Given the description of an element on the screen output the (x, y) to click on. 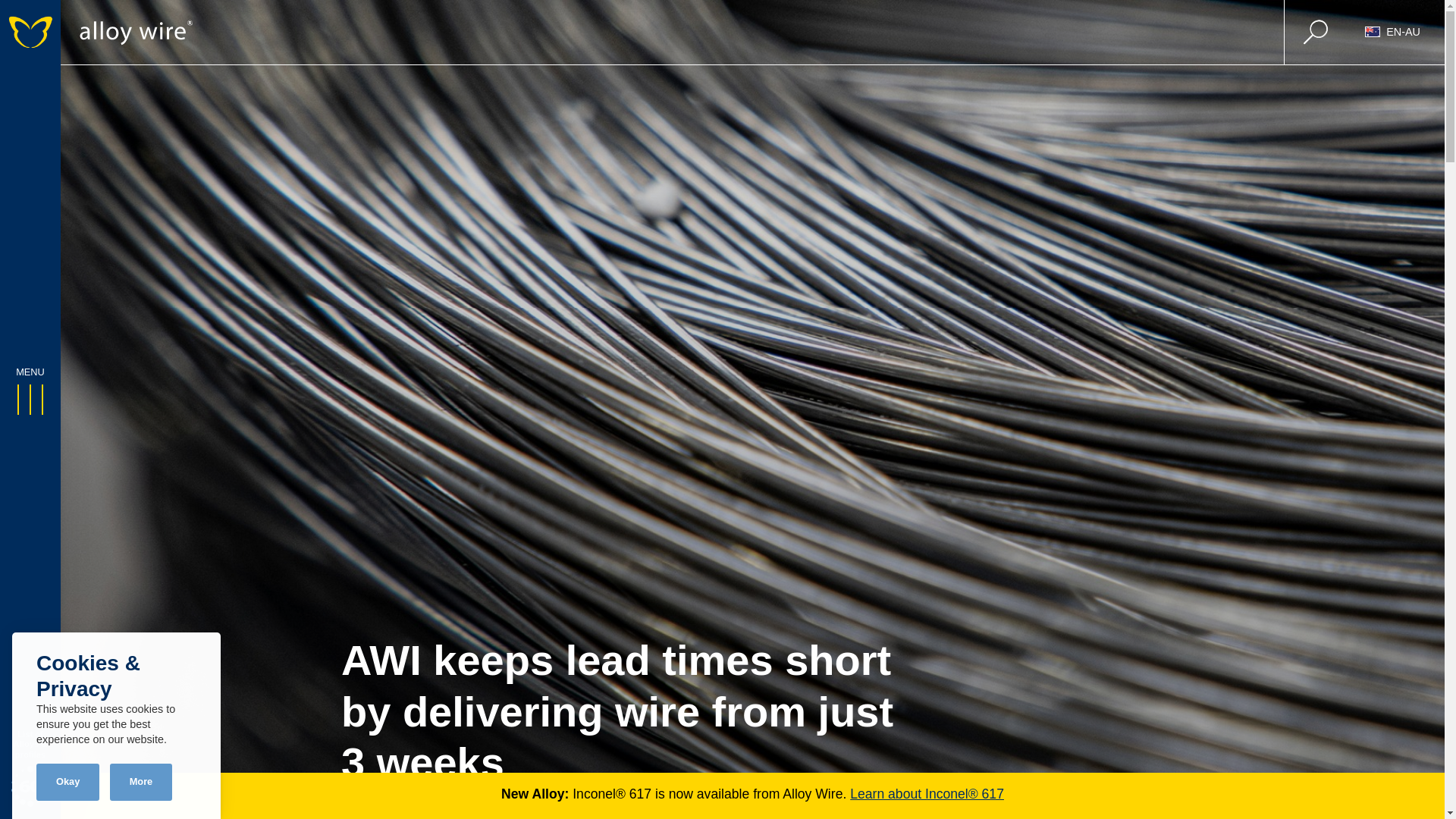
Search (1316, 31)
